Given the description of an element on the screen output the (x, y) to click on. 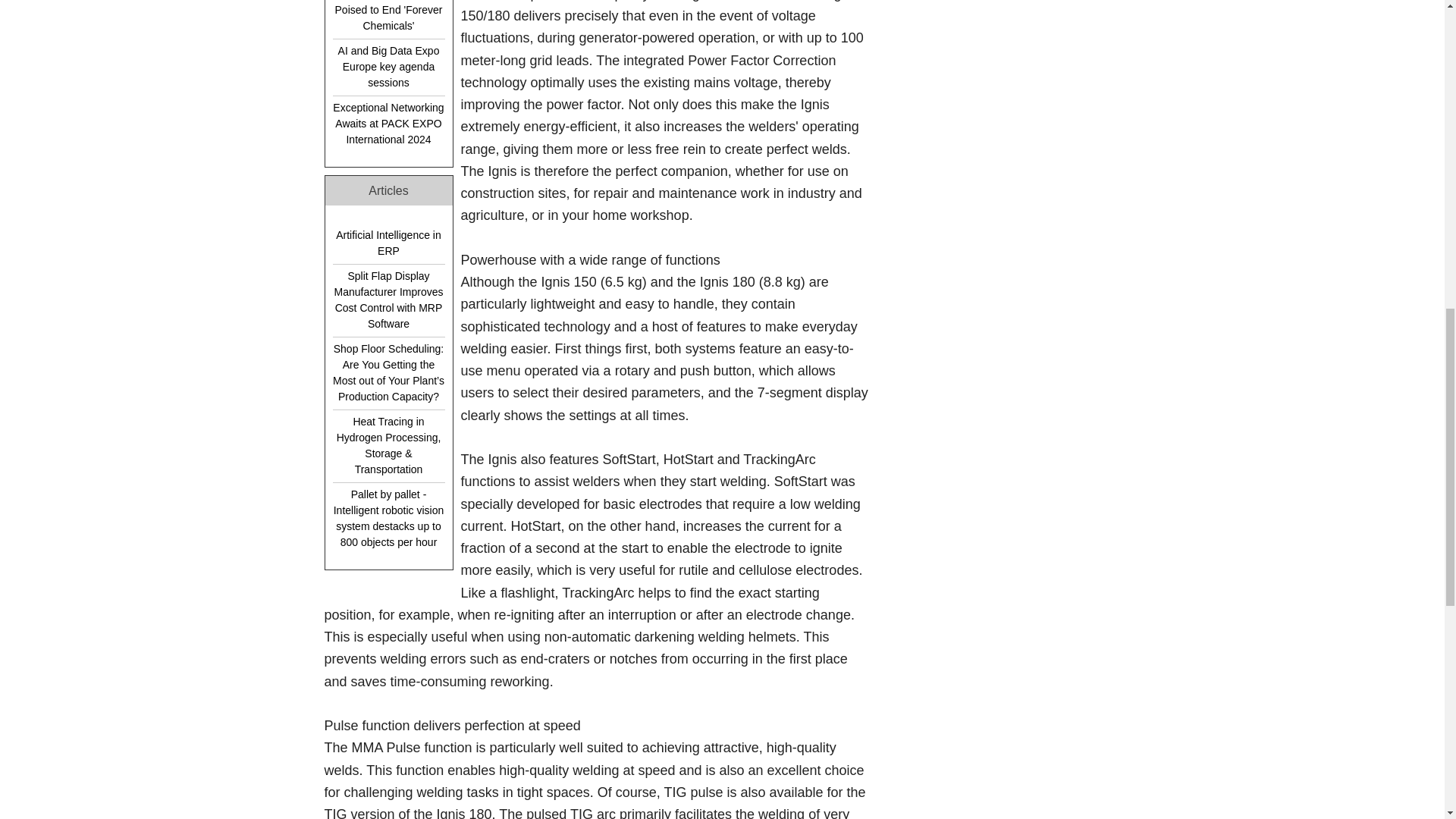
Artificial Intelligence in ERP (387, 243)
AI and Big Data Expo Europe key agenda sessions (387, 66)
